Given the description of an element on the screen output the (x, y) to click on. 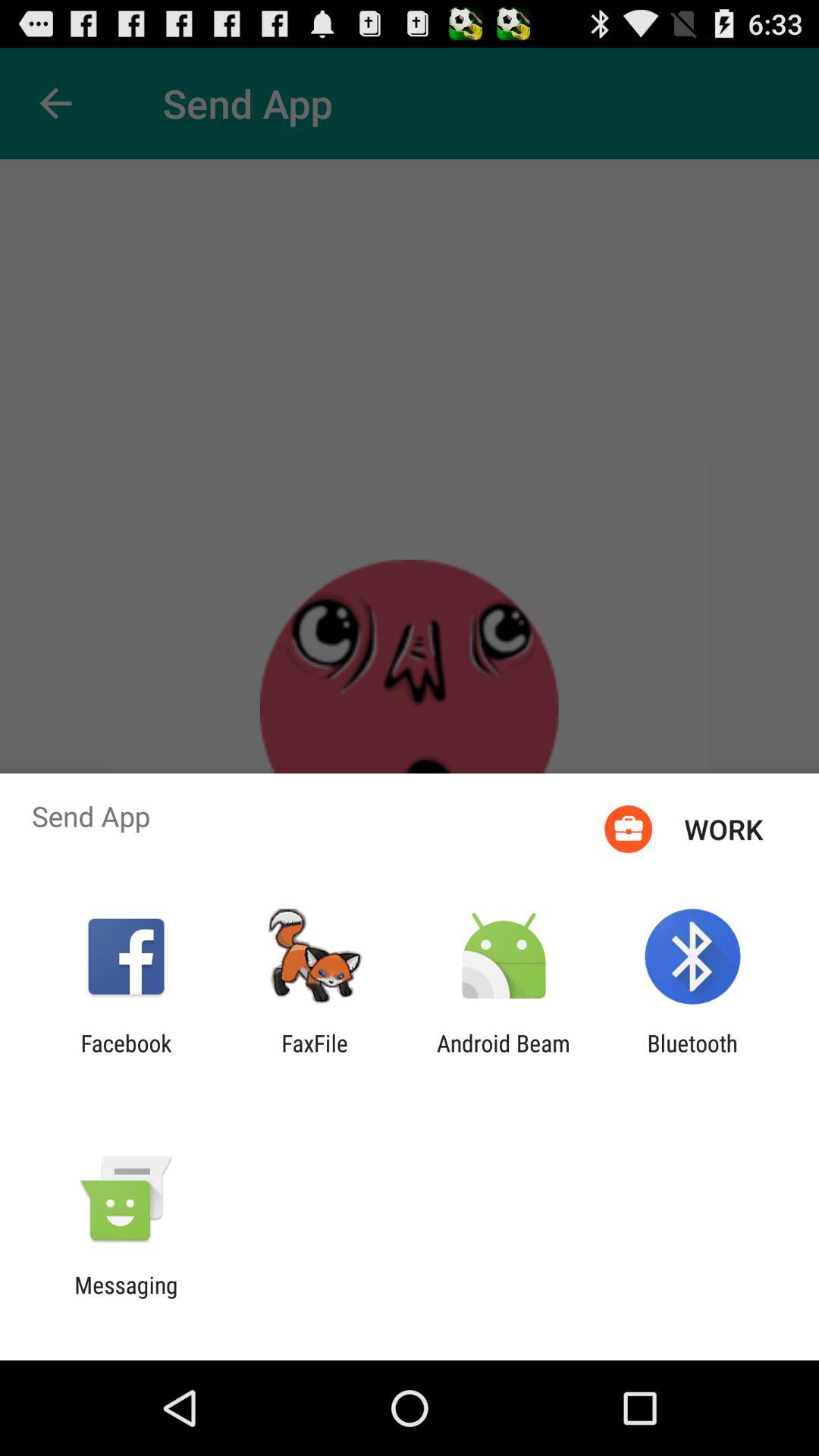
flip to messaging app (126, 1298)
